Given the description of an element on the screen output the (x, y) to click on. 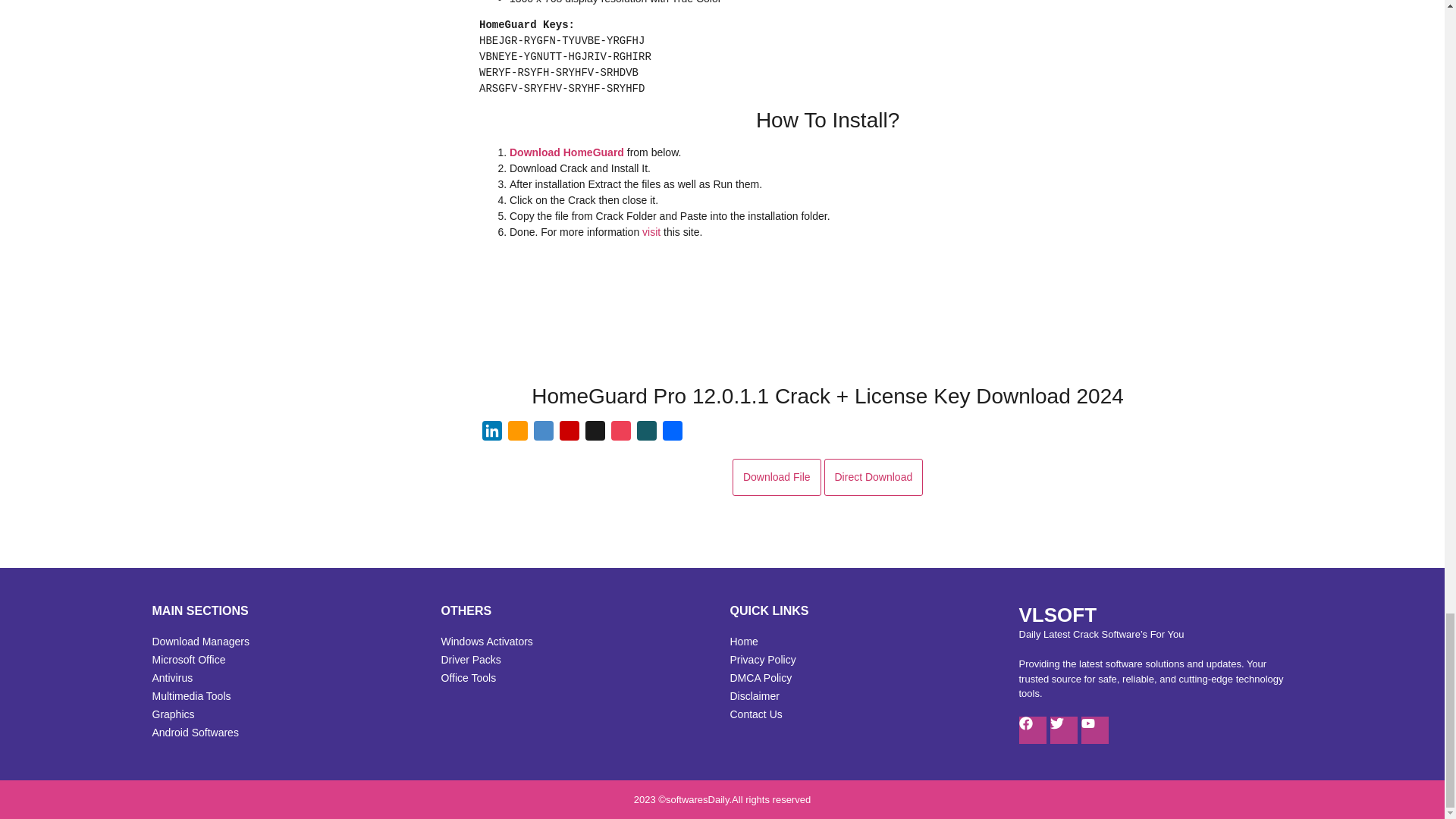
Amazon Wish List (518, 433)
LinkedIn (492, 433)
Diigo (543, 433)
